Given the description of an element on the screen output the (x, y) to click on. 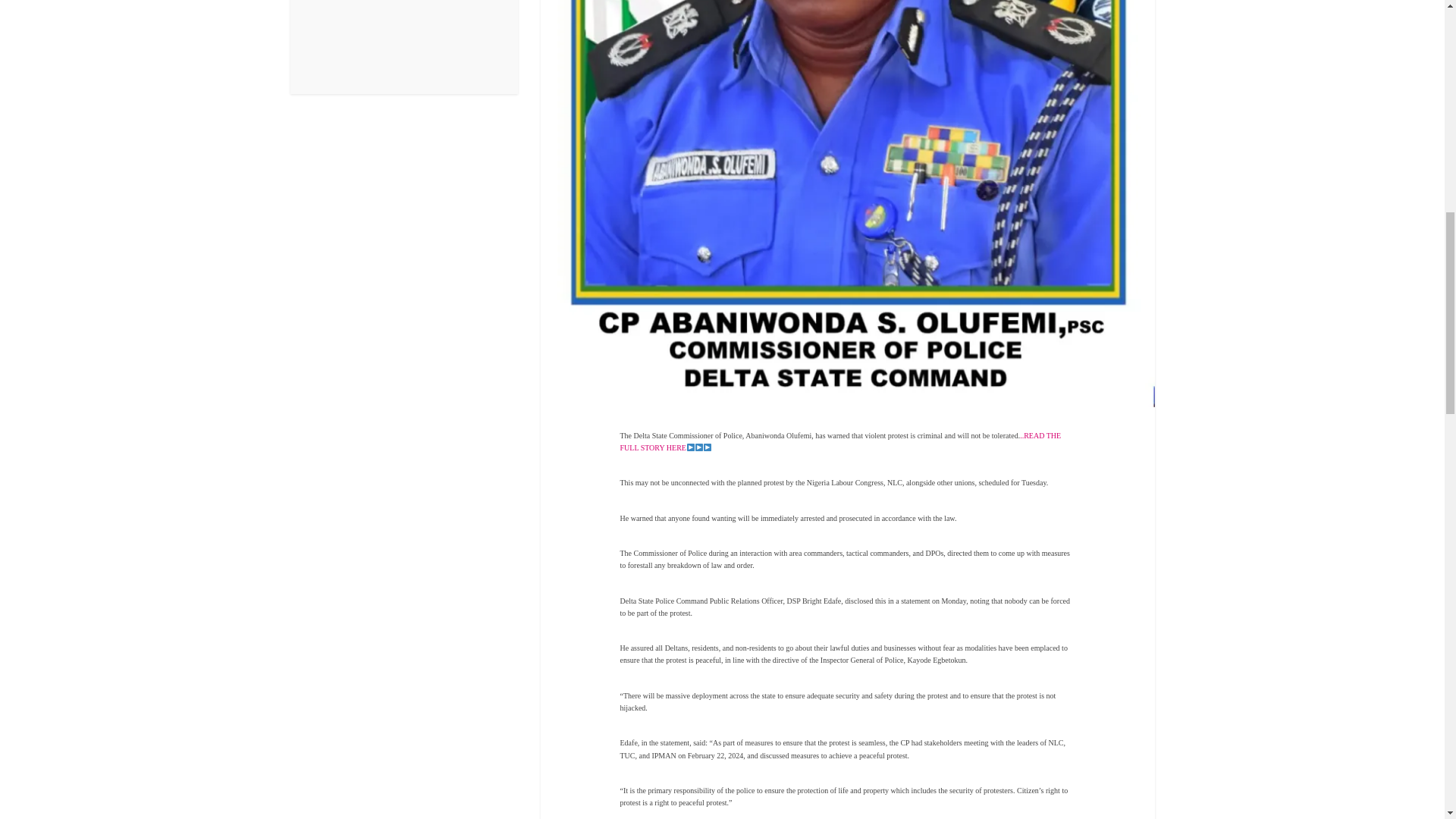
Advertisement (402, 47)
